Given the description of an element on the screen output the (x, y) to click on. 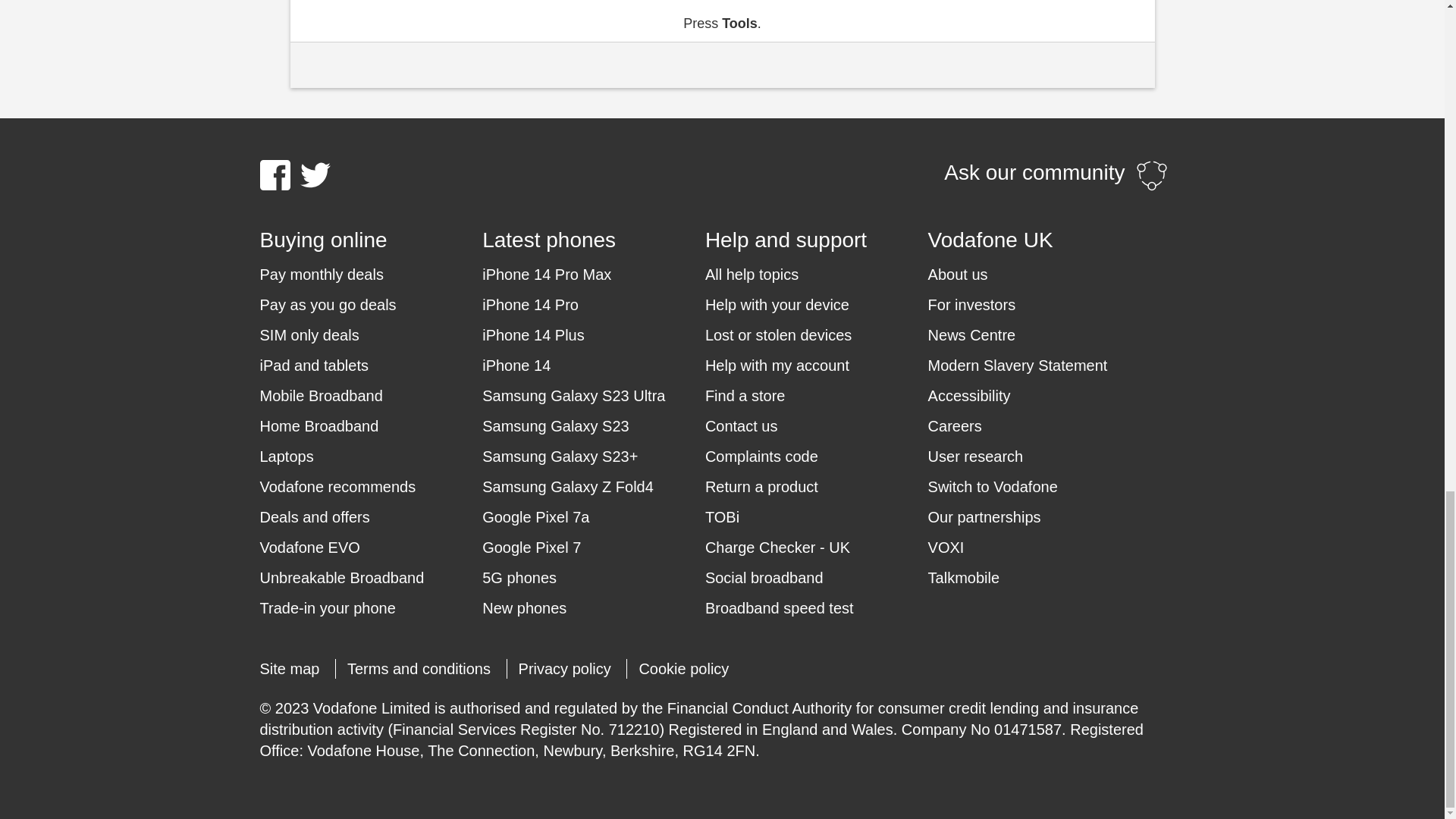
SIM only deals (308, 334)
Unbreakable Broadband (341, 578)
Mobile Broadband (320, 395)
Laptops (286, 456)
Deals and offers (314, 516)
iPad and tablets (313, 365)
Pay monthly deals (320, 274)
Buying online (370, 240)
Pay as you go deals (327, 304)
Facebook (274, 174)
Twitter (314, 174)
Ask our community (1055, 174)
Trade-in your phone (326, 608)
Home Broadband (318, 425)
Vodafone EVO (309, 547)
